Given the description of an element on the screen output the (x, y) to click on. 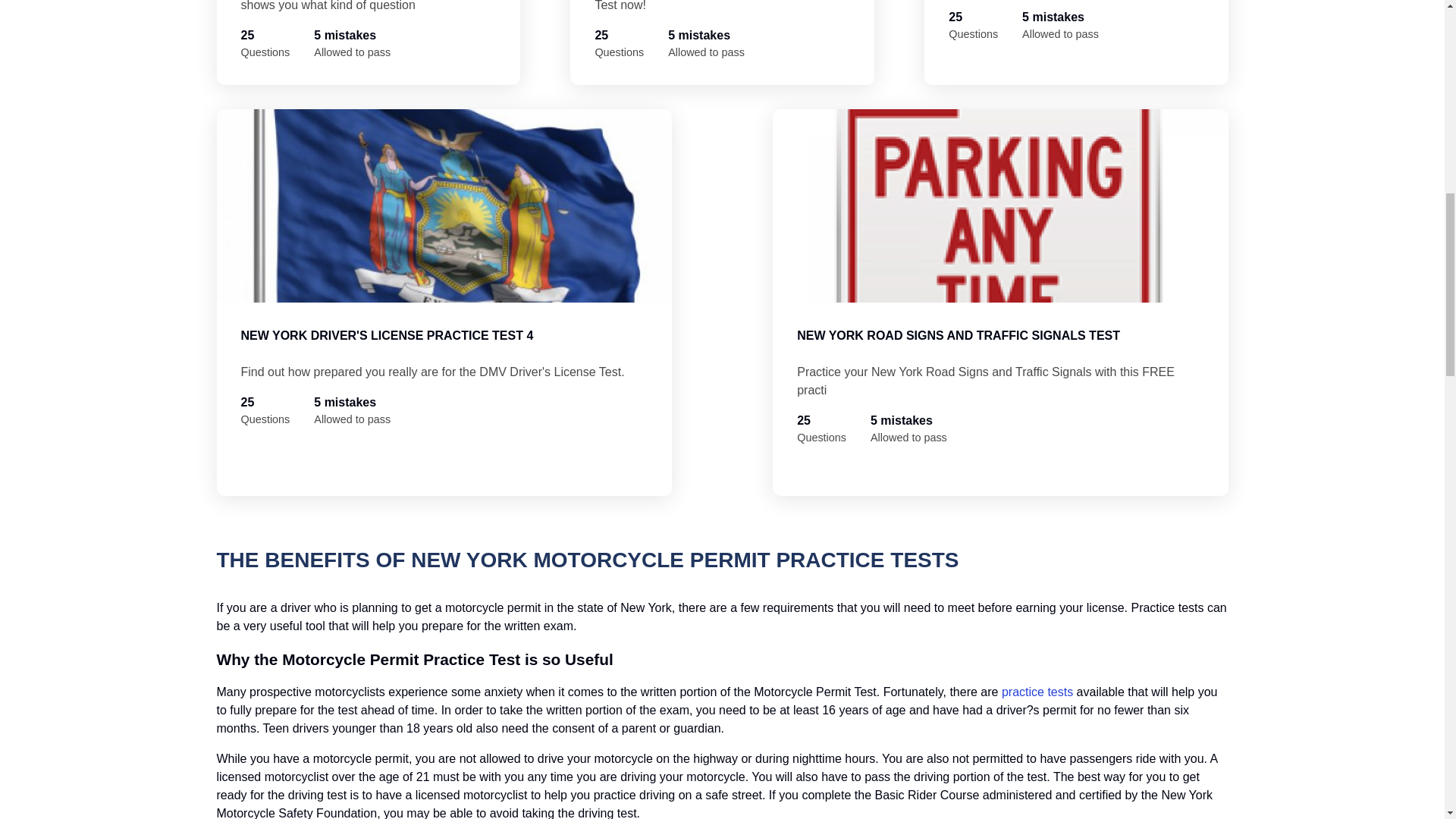
New York Driver's License Practice Test (367, 42)
practice tests (1037, 691)
New York Driver's License Practice Test 3 (1075, 42)
New York Driver's License Practice Test 2 (721, 42)
